Given the description of an element on the screen output the (x, y) to click on. 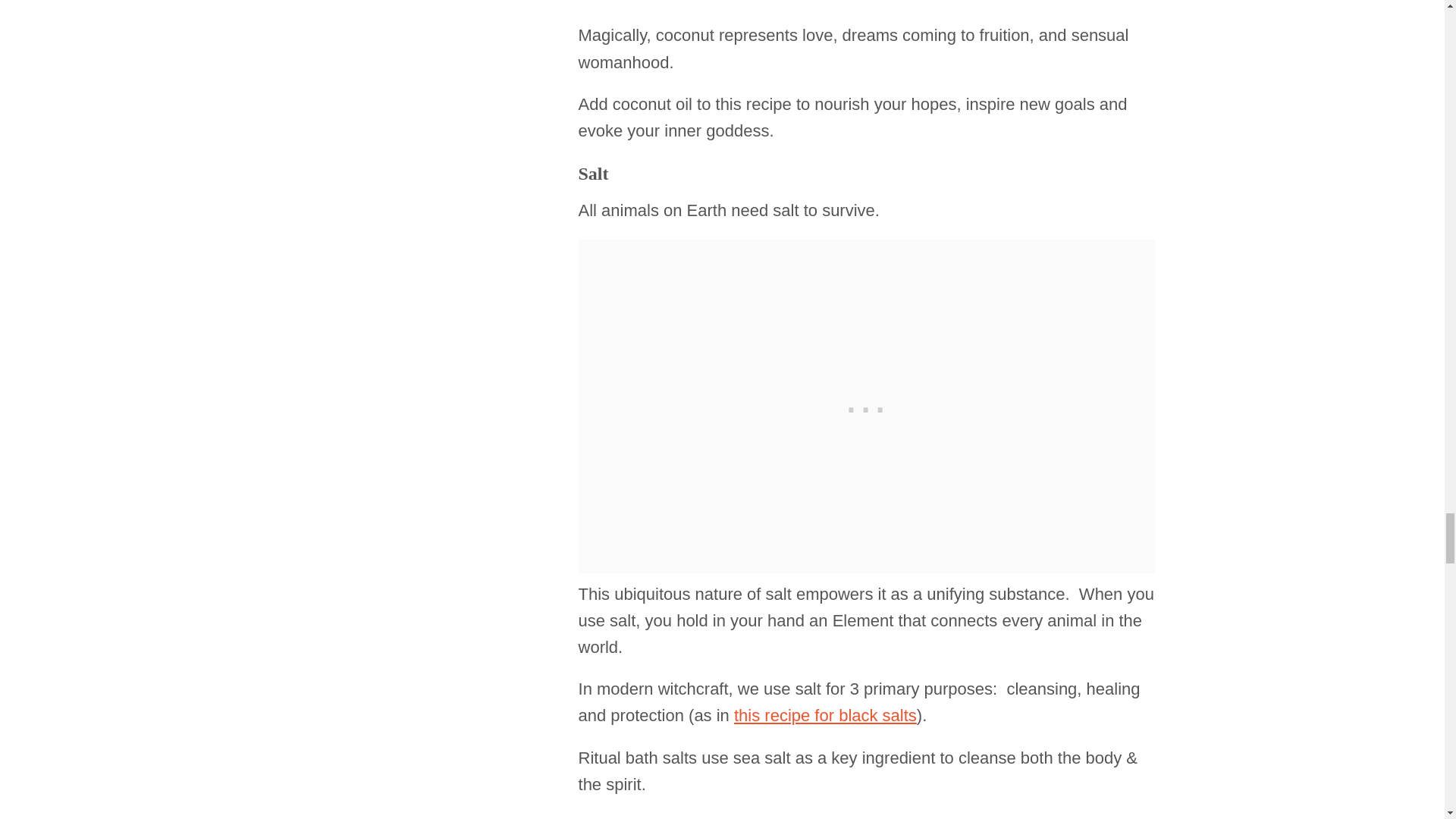
this recipe for black salts (825, 714)
